Given the description of an element on the screen output the (x, y) to click on. 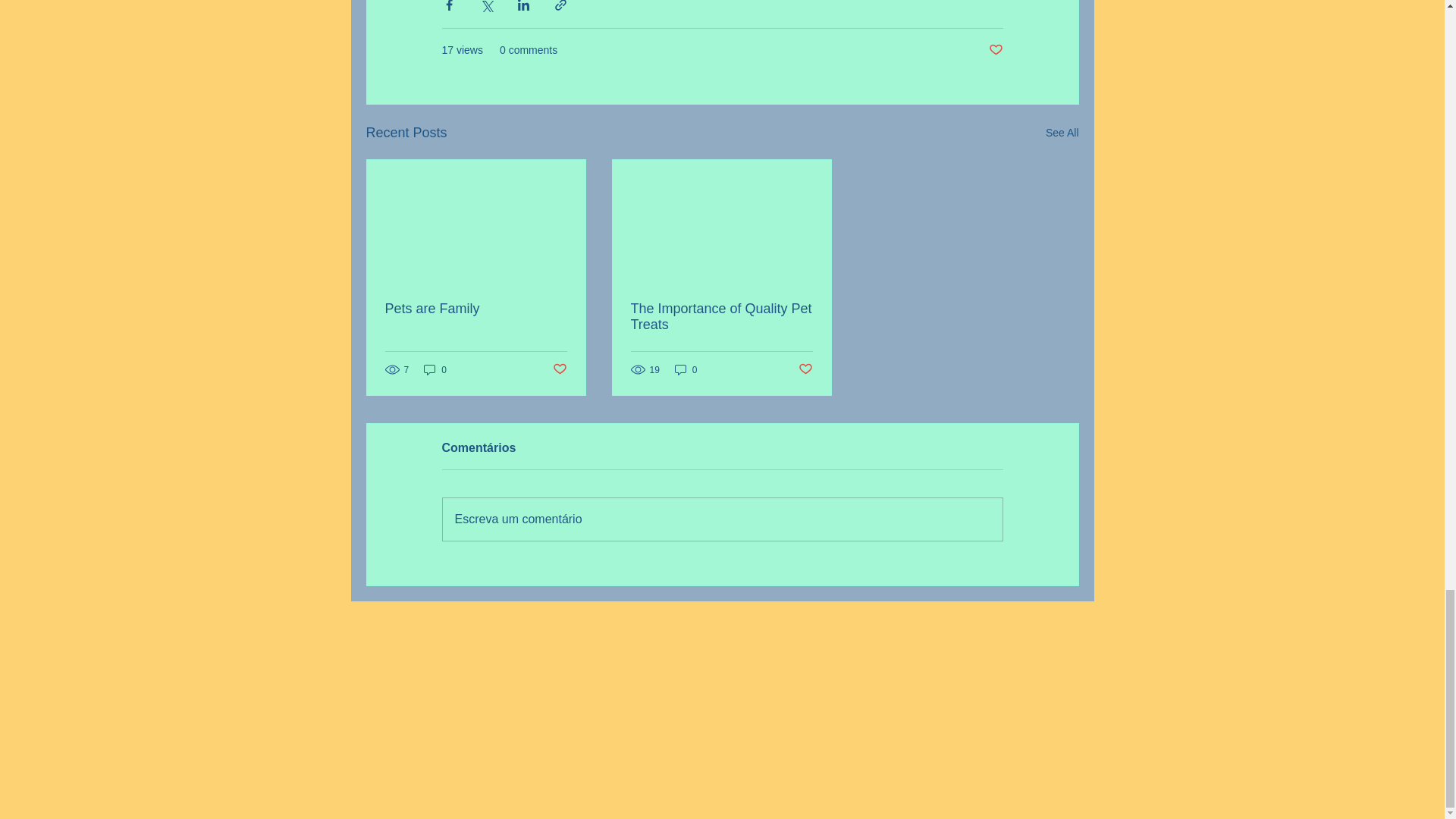
Post not marked as liked (804, 369)
See All (1061, 133)
The Importance of Quality Pet Treats (721, 316)
Pets are Family (476, 308)
0 (685, 369)
Post not marked as liked (558, 369)
Post not marked as liked (995, 50)
0 (435, 369)
